Given the description of an element on the screen output the (x, y) to click on. 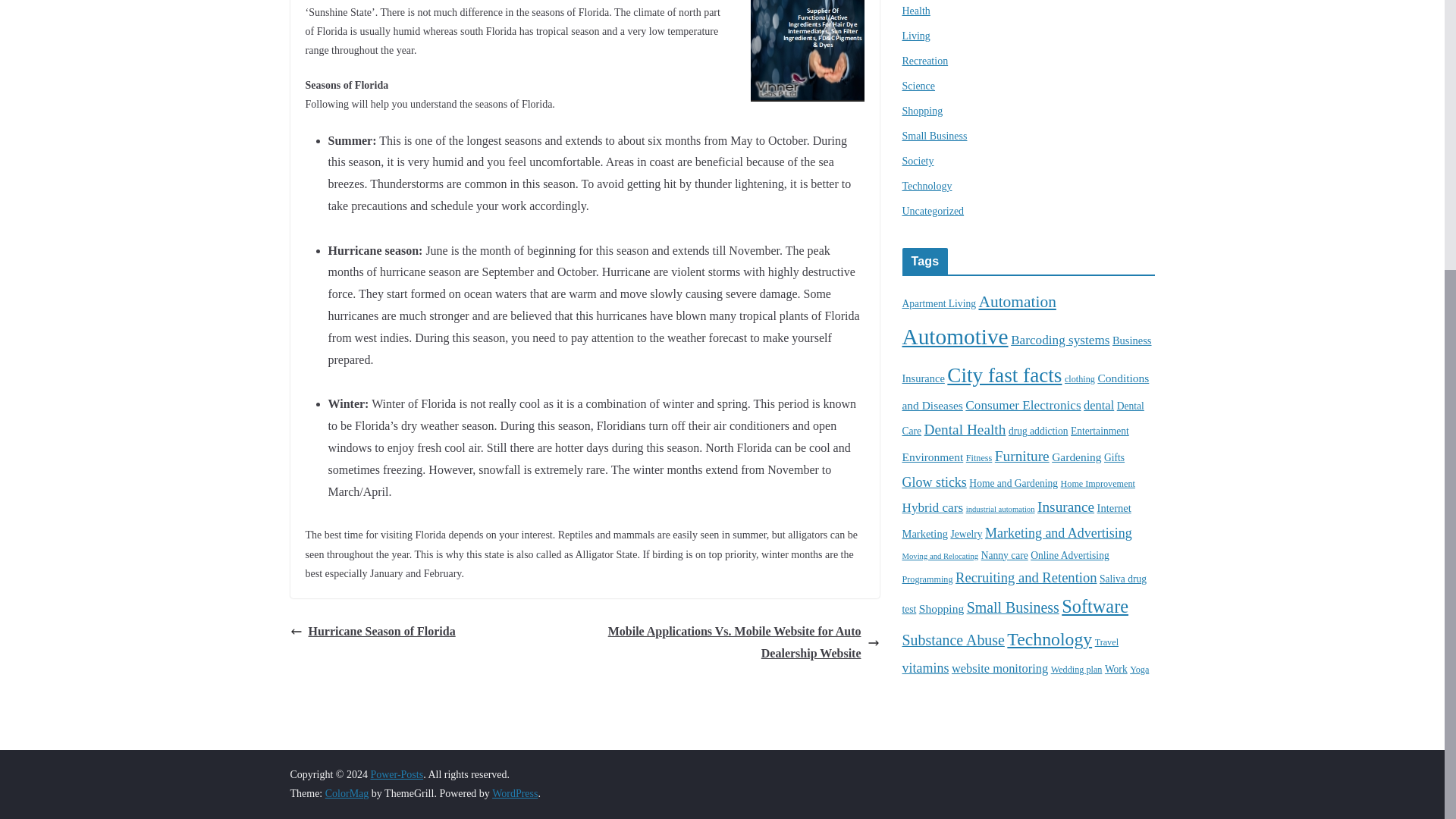
Living (916, 35)
Consumer Electronics (1022, 405)
Apartment Living (938, 303)
Science (919, 85)
Society (918, 161)
Conditions and Diseases (1026, 391)
dental (1098, 405)
WordPress (514, 793)
Hurricane Season of Florida (371, 631)
ColorMag (346, 793)
clothing (1079, 378)
Power-Posts (396, 774)
Business Insurance (1026, 359)
Small Business (935, 135)
